Given the description of an element on the screen output the (x, y) to click on. 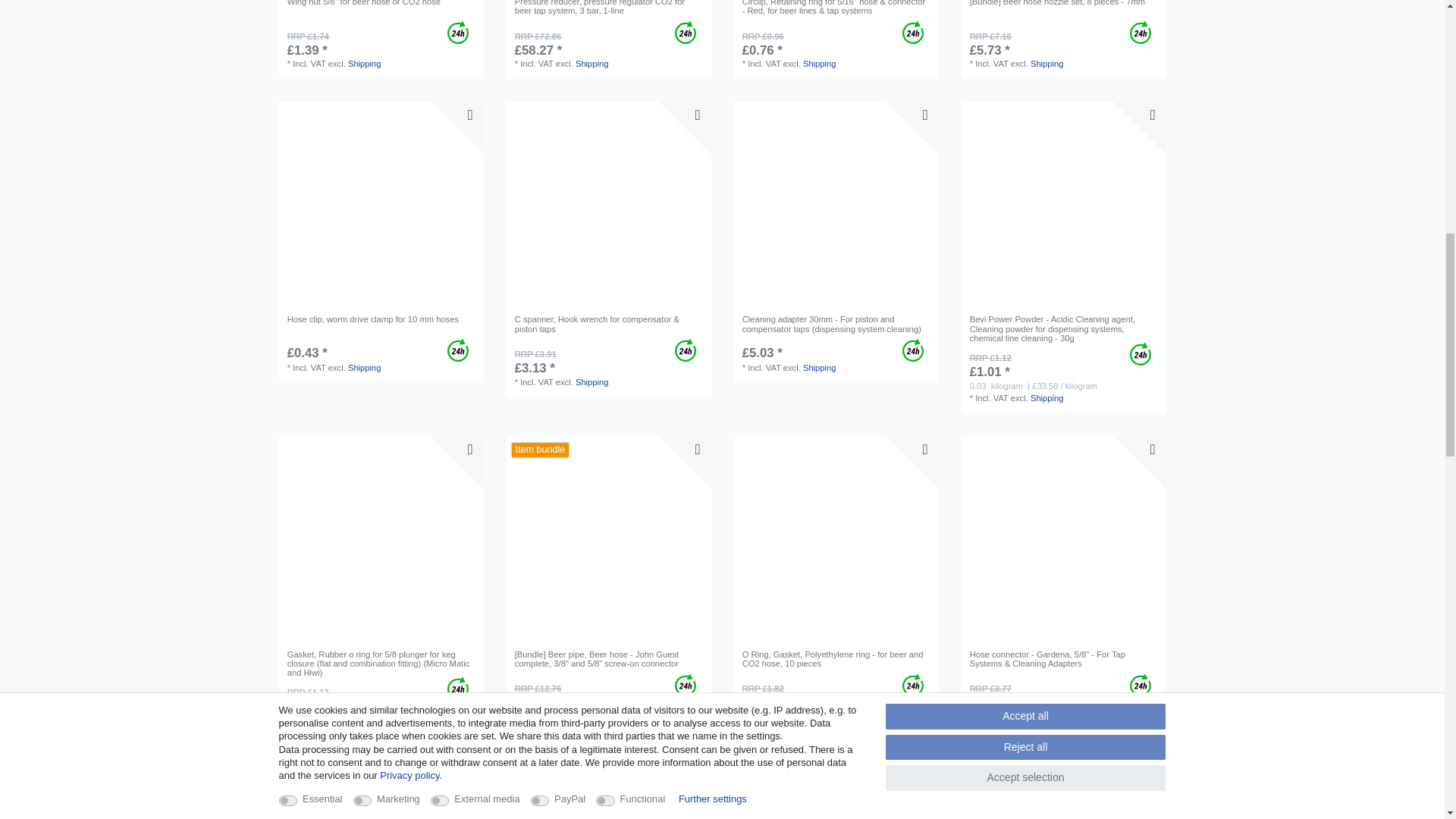
Ready to be delivered within 24 hours!  (457, 350)
Shipping (1047, 62)
Shipping (819, 62)
Shipping (591, 62)
Ready to be delivered within 24 hours!  (912, 32)
Ready to be delivered within 24 hours!  (685, 32)
Shipping (364, 62)
Ready to be delivered within 24 hours!  (457, 32)
Ready to be delivered within 24 hours!  (1140, 32)
